Given the description of an element on the screen output the (x, y) to click on. 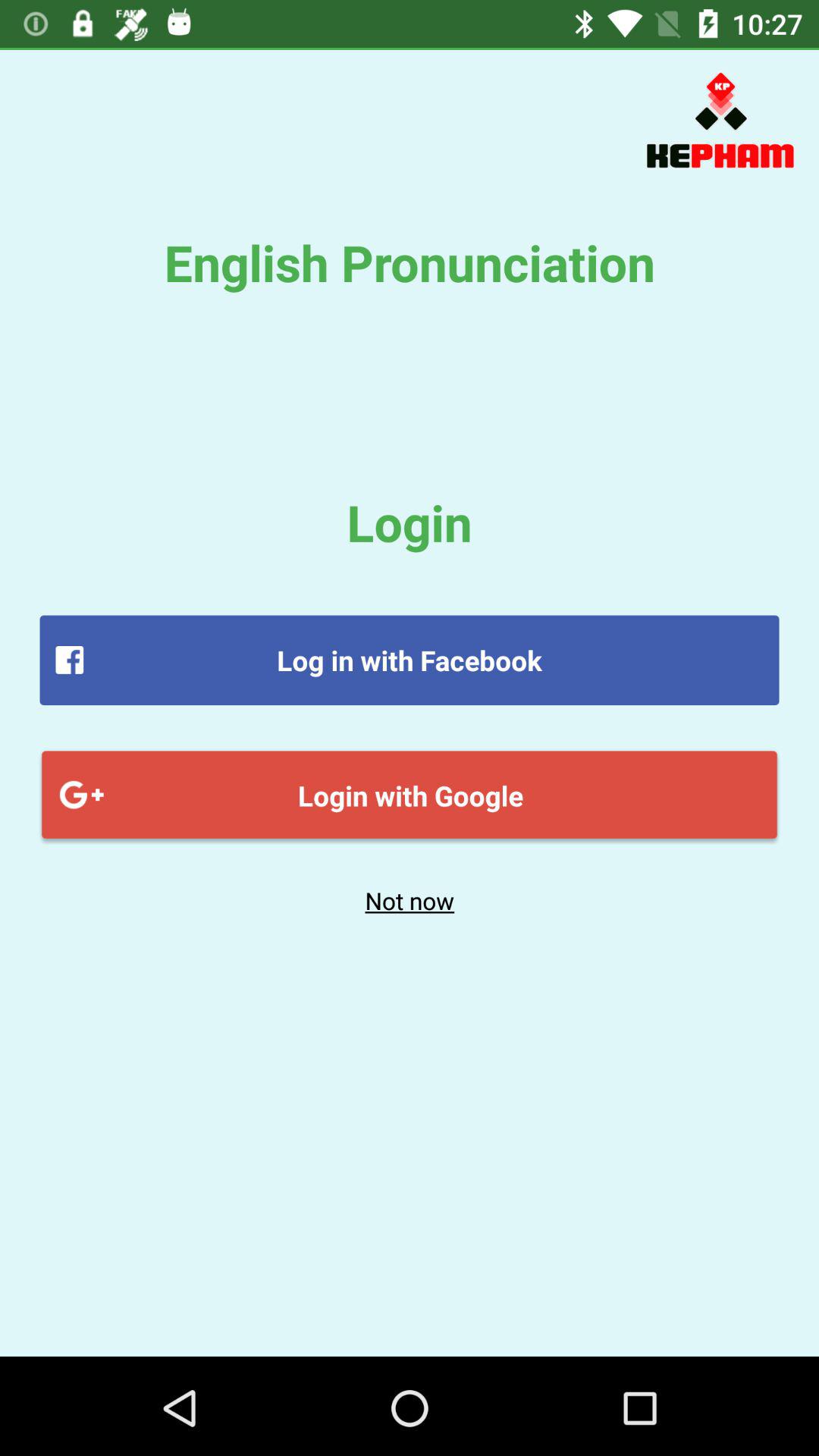
turn on the item above login with google icon (409, 660)
